Given the description of an element on the screen output the (x, y) to click on. 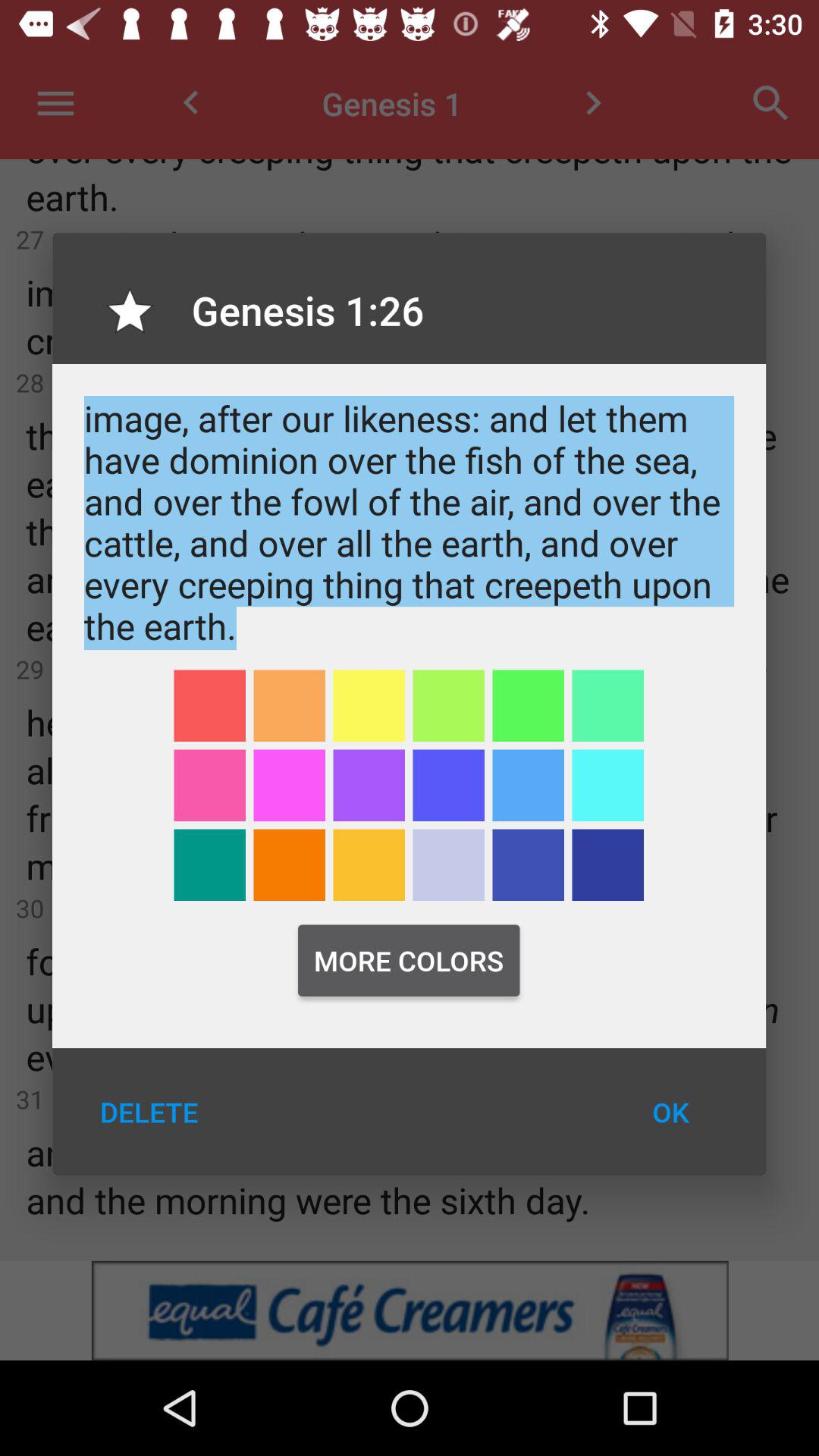
select color pink (289, 785)
